Given the description of an element on the screen output the (x, y) to click on. 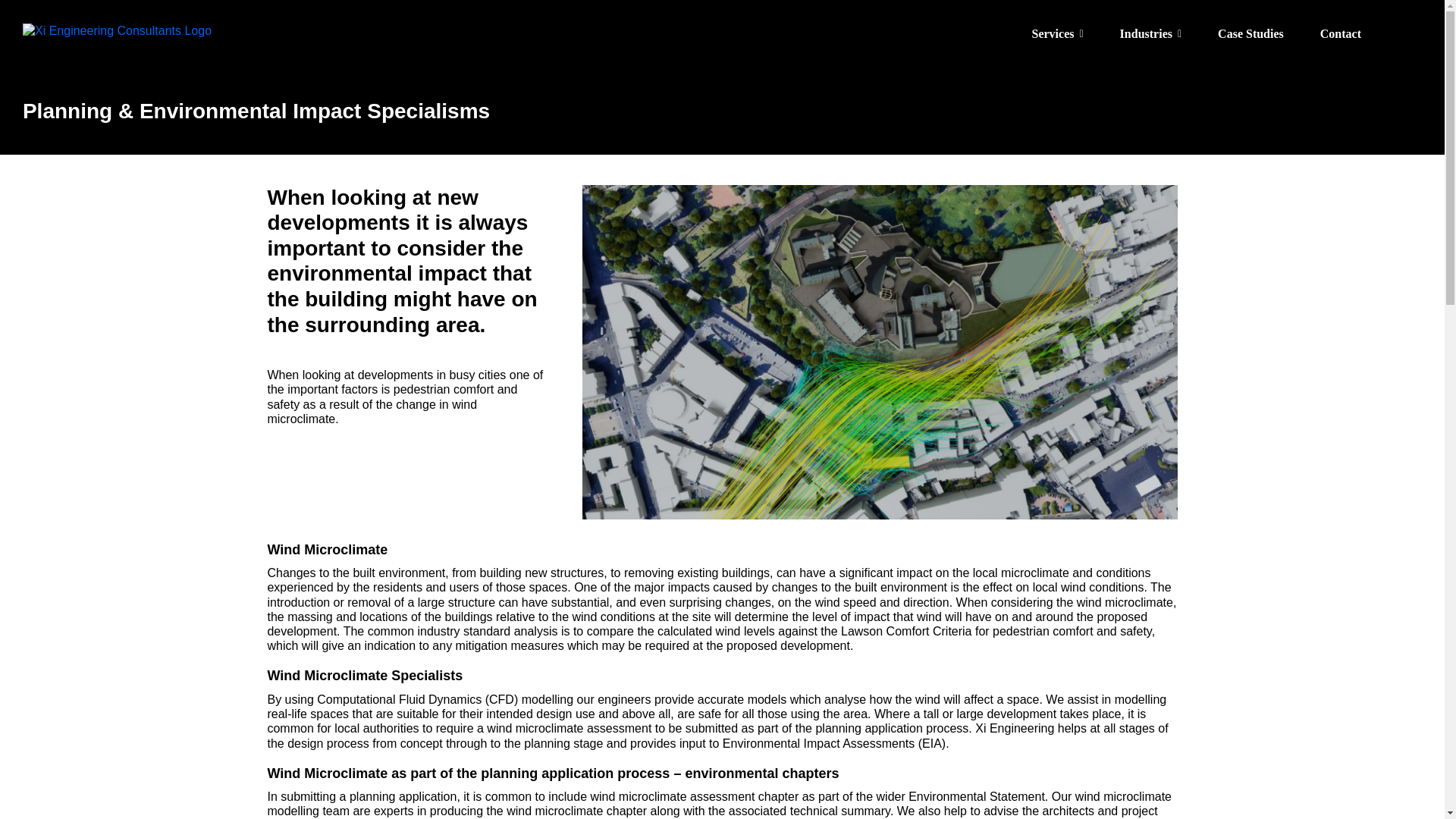
Industries (1149, 33)
